Given the description of an element on the screen output the (x, y) to click on. 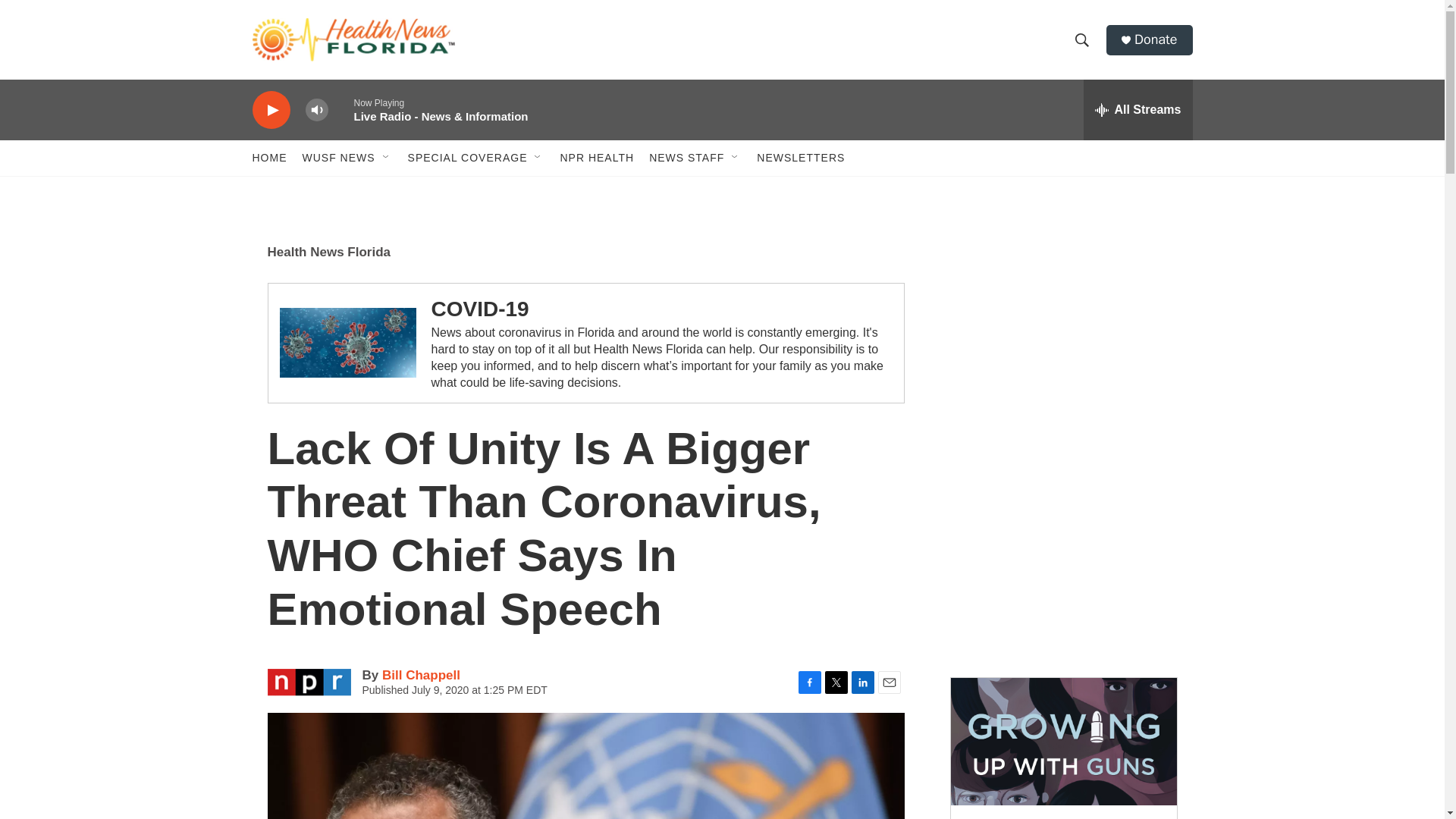
3rd party ad content (1062, 552)
3rd party ad content (1062, 331)
